Given the description of an element on the screen output the (x, y) to click on. 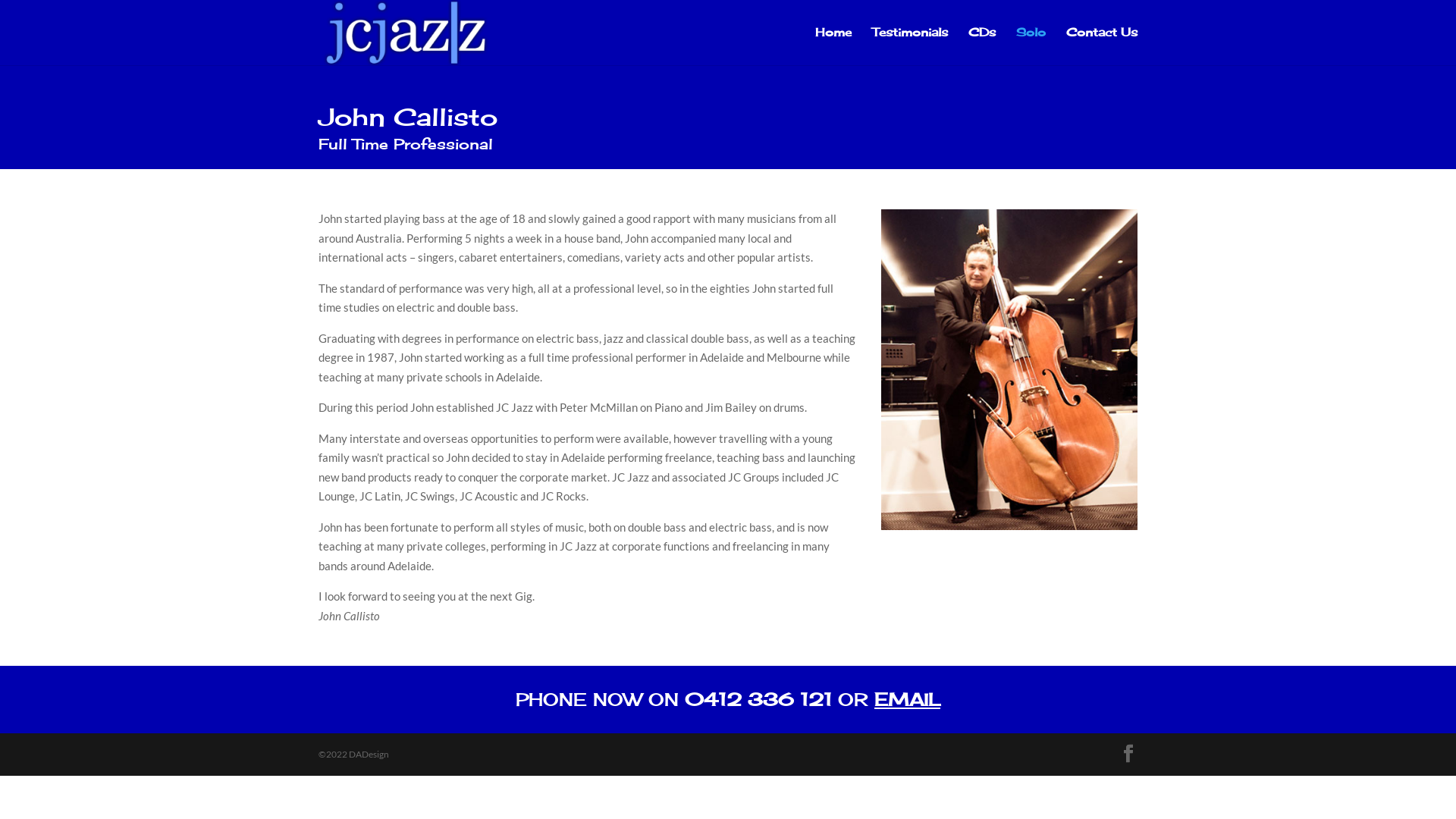
Home Element type: text (833, 46)
CDs Element type: text (981, 46)
Testimonials Element type: text (909, 46)
Contact Us Element type: text (1101, 46)
Solo Element type: text (1030, 46)
EMAIL Element type: text (907, 699)
